Given the description of an element on the screen output the (x, y) to click on. 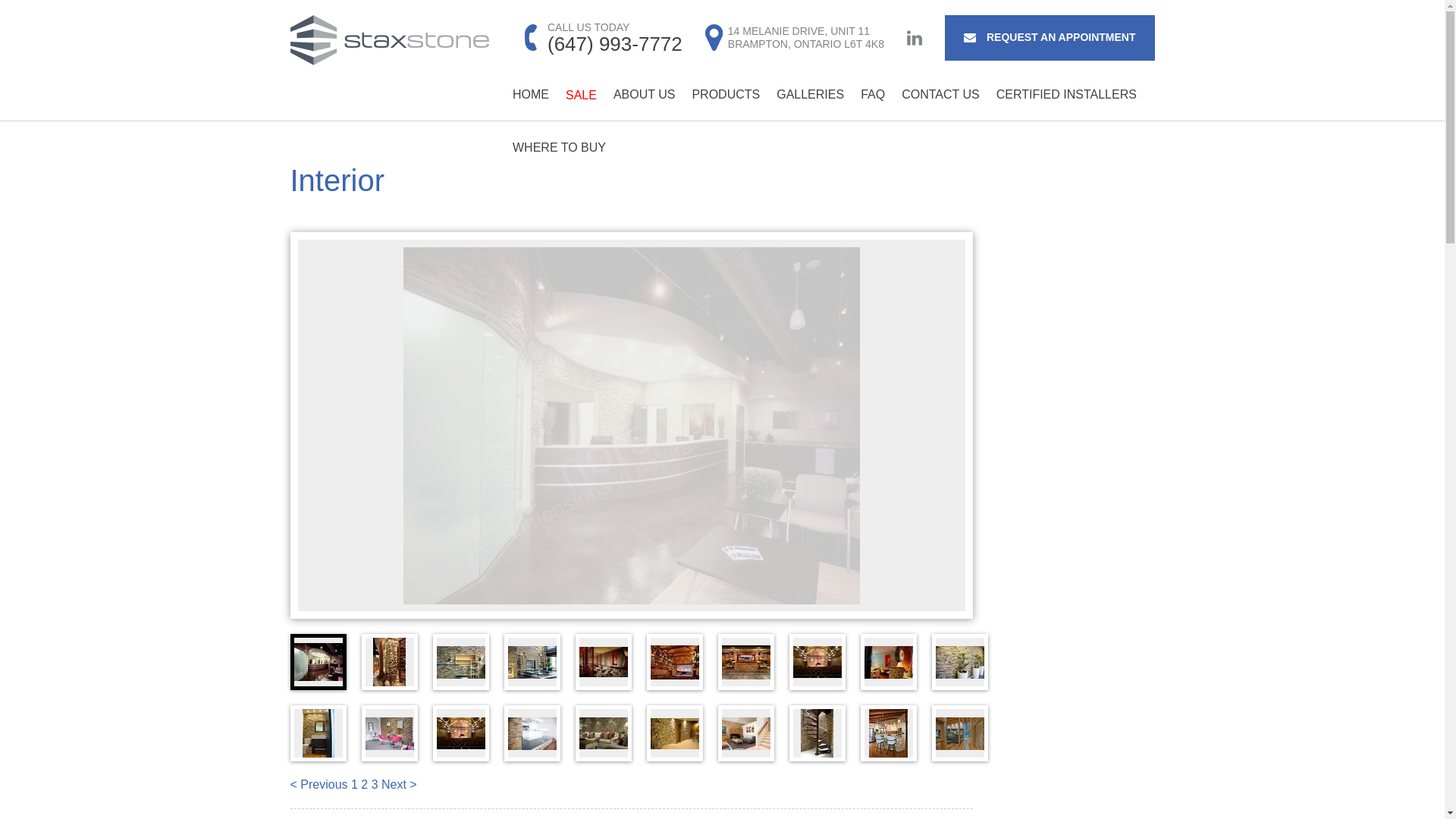
CONTACT US (940, 94)
PRODUCTS (725, 94)
linkedin (914, 37)
Linked In (793, 37)
WHERE TO BUY (914, 37)
GALLERIES (559, 147)
REQUEST AN APPOINTMENT (810, 94)
ABOUT US (1049, 37)
loader (644, 94)
